Given the description of an element on the screen output the (x, y) to click on. 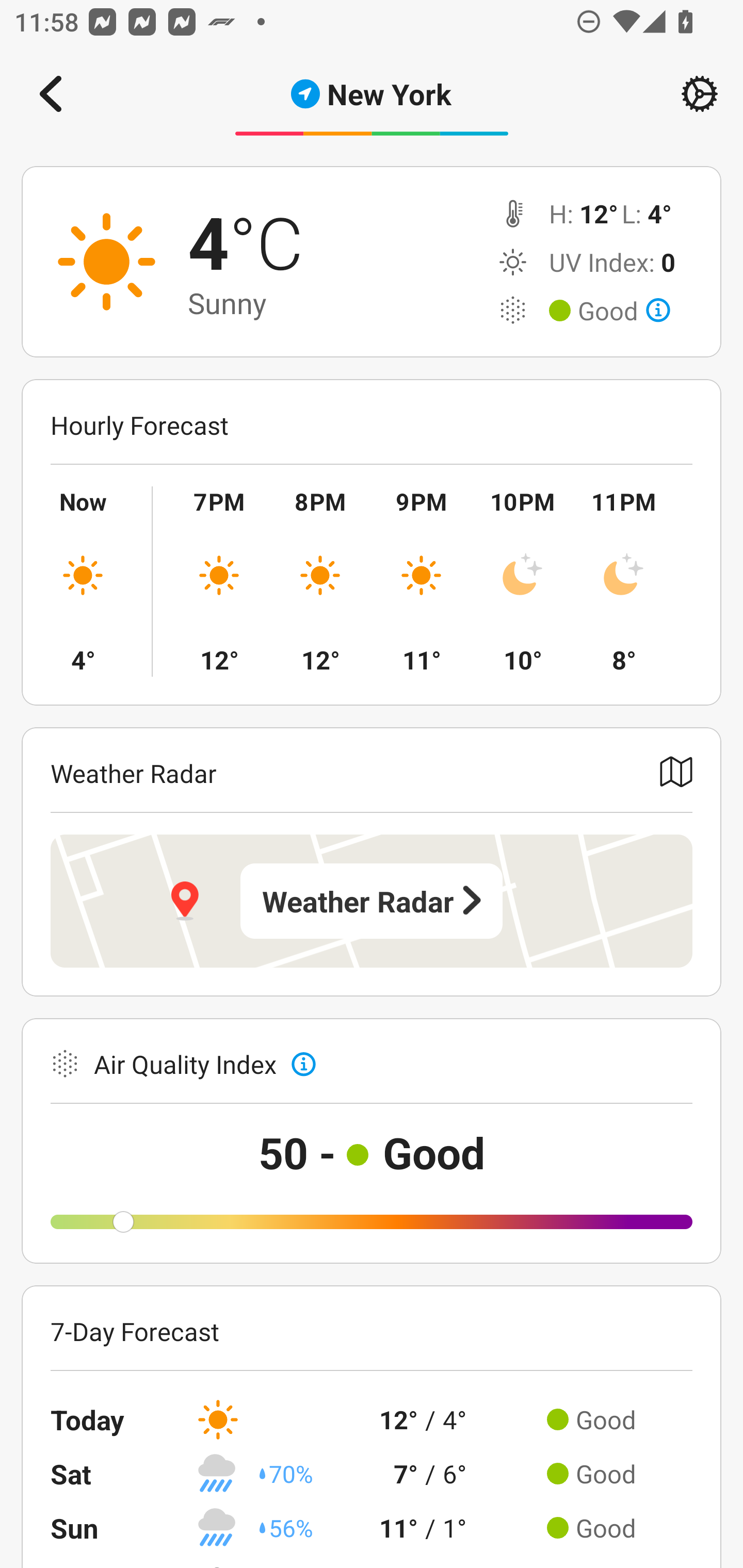
Navigate up (50, 93)
Setting (699, 93)
Good (624, 310)
Weather Radar (371, 900)
